Given the description of an element on the screen output the (x, y) to click on. 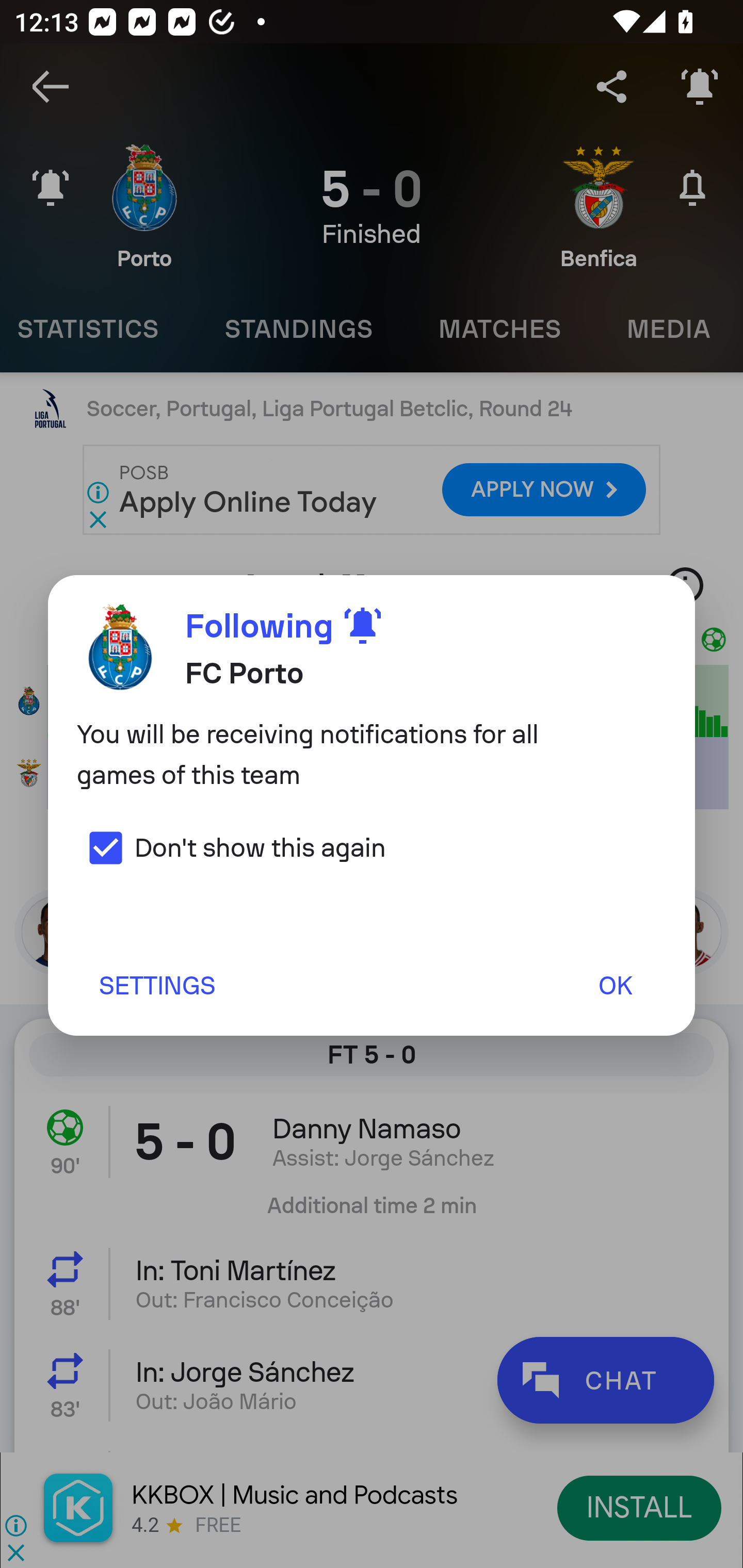
Don't show this again (231, 847)
SETTINGS (156, 985)
OK (615, 985)
